Given the description of an element on the screen output the (x, y) to click on. 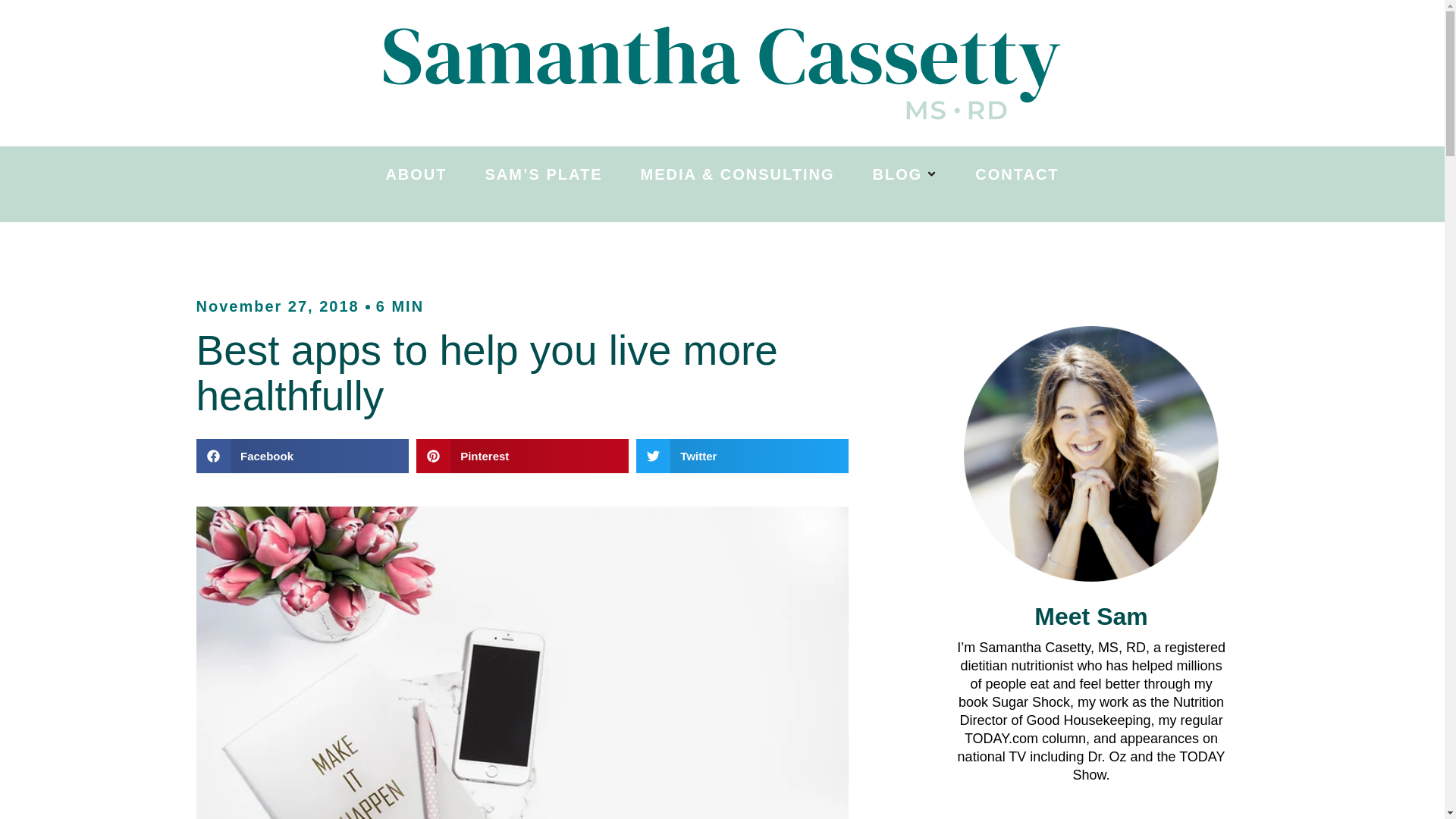
BLOG (904, 174)
CONTACT (1016, 174)
ABOUT (415, 174)
